Given the description of an element on the screen output the (x, y) to click on. 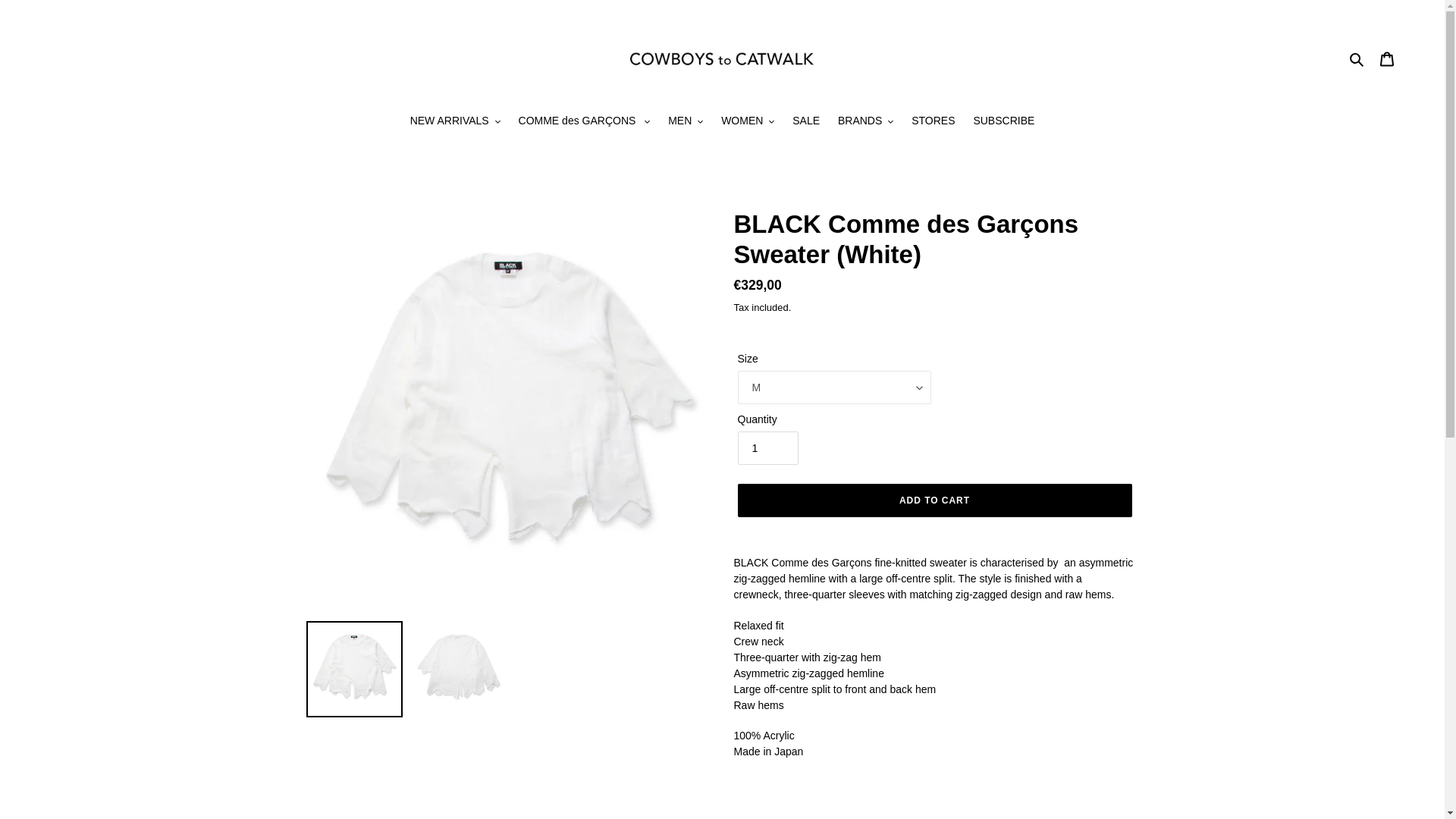
1 (766, 448)
Cart (1387, 57)
Search (1357, 57)
